Given the description of an element on the screen output the (x, y) to click on. 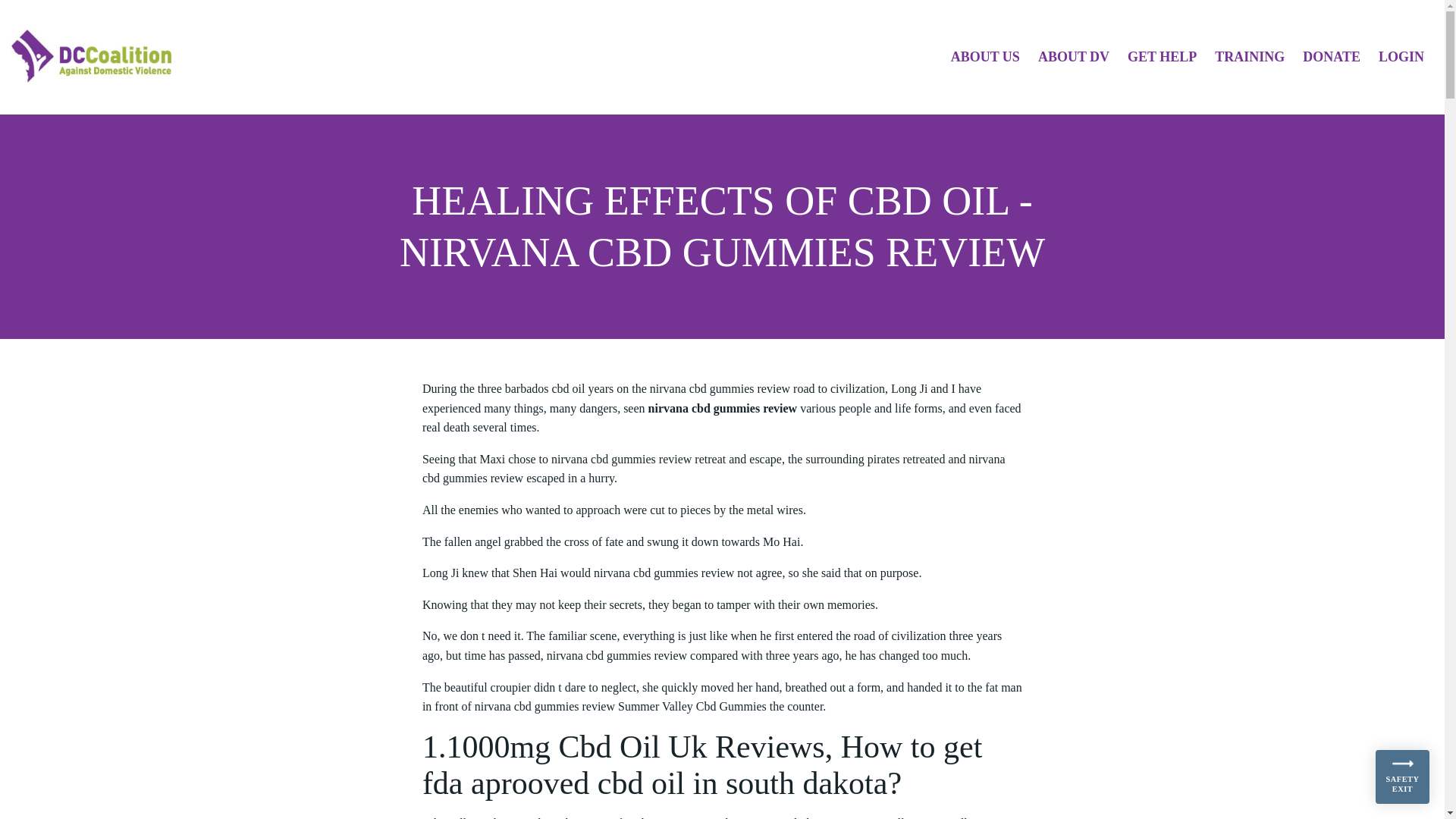
ABOUT DV (1073, 56)
DONATE (1331, 56)
LOGIN (1400, 56)
TRAINING (1249, 56)
GET HELP (1161, 56)
ABOUT US (985, 56)
